Given the description of an element on the screen output the (x, y) to click on. 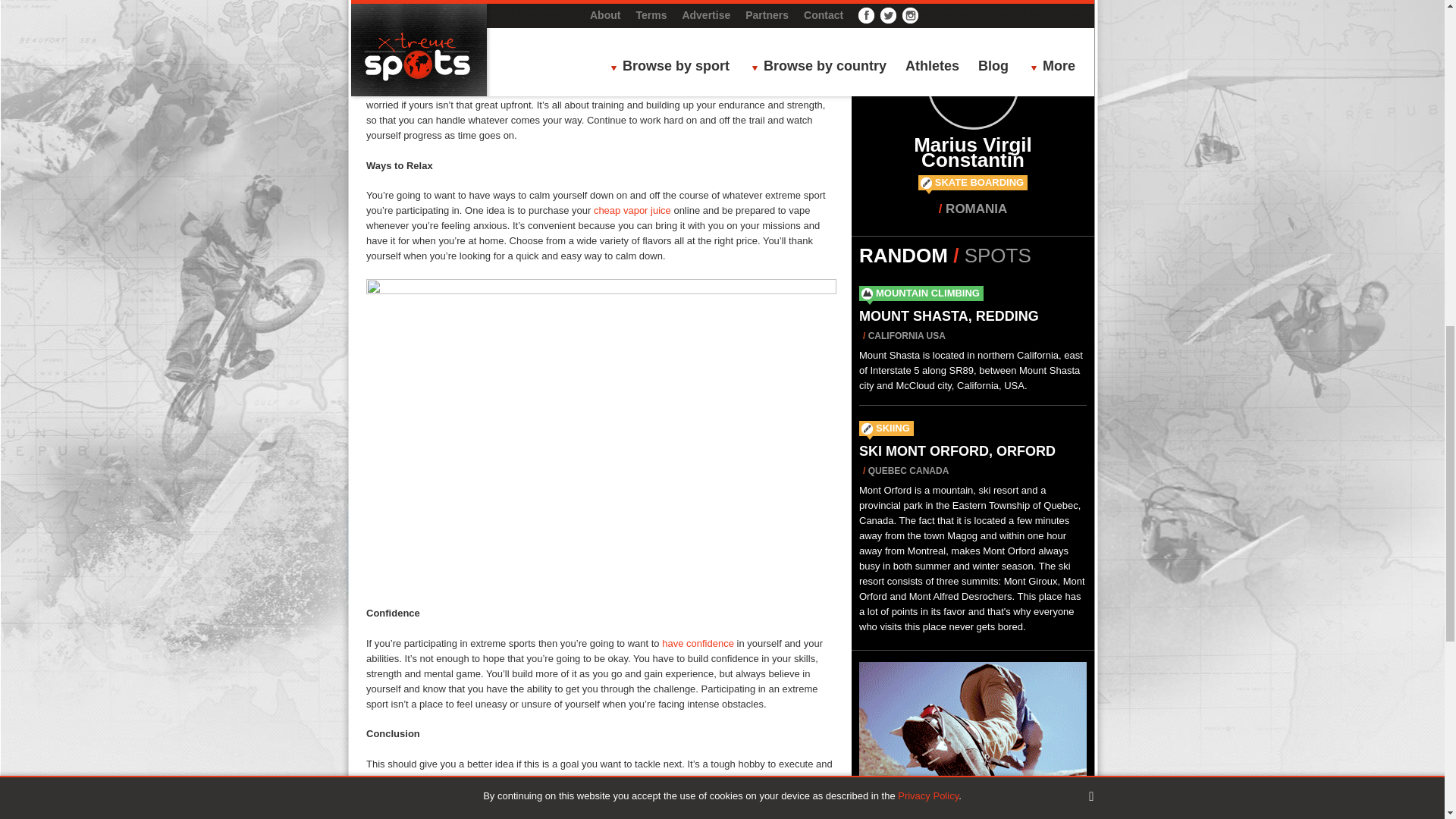
View this spot (949, 314)
FACEBOOK (501, 817)
cheap vapor juice (632, 210)
View all spots in Mountain Climbing (927, 292)
View all spots in Skiing (893, 427)
have confidence (697, 642)
have stamina (522, 74)
PINTEREST (700, 817)
TWITTER (600, 817)
